Given the description of an element on the screen output the (x, y) to click on. 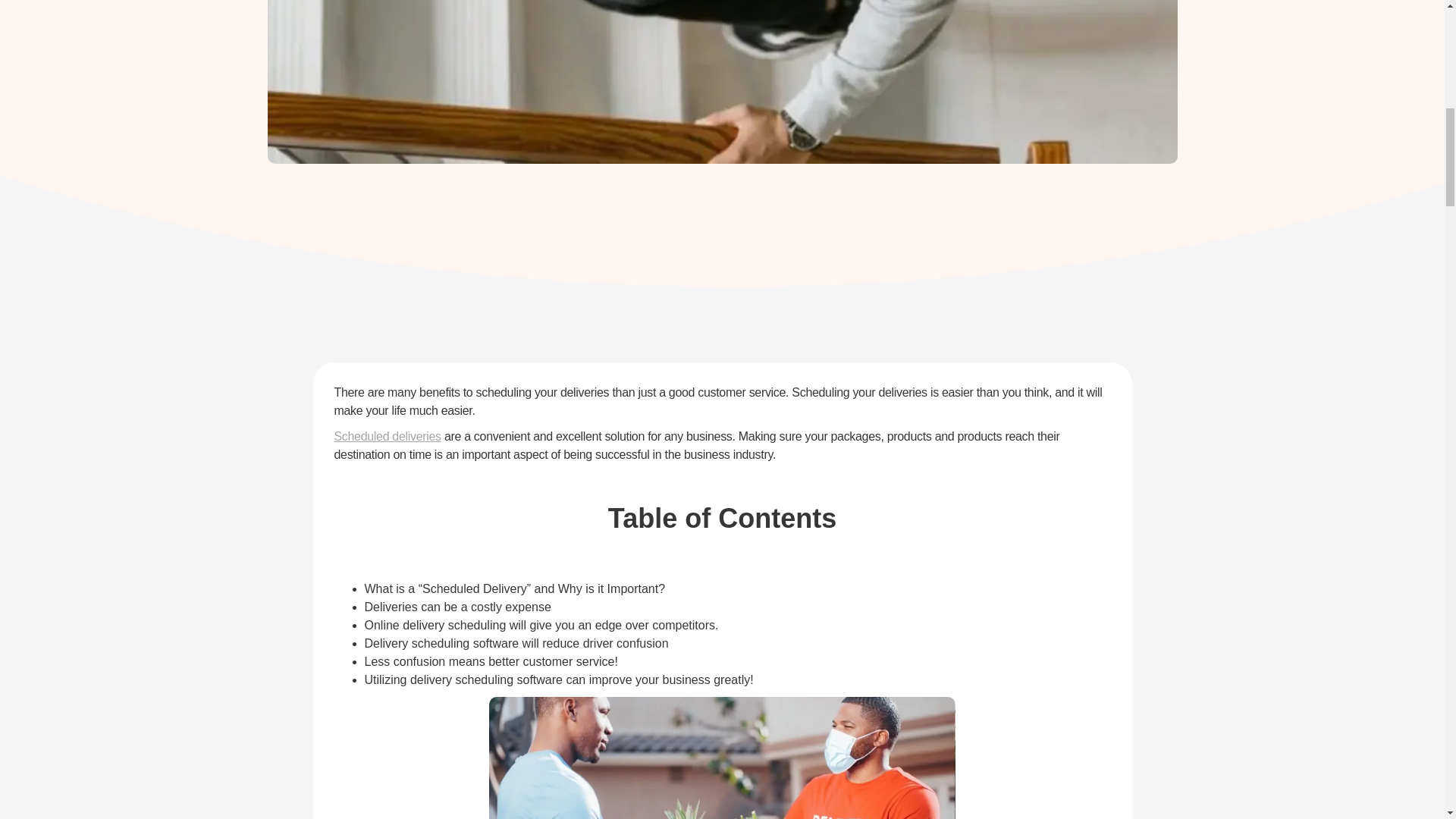
Scheduled deliveries (387, 436)
